Given the description of an element on the screen output the (x, y) to click on. 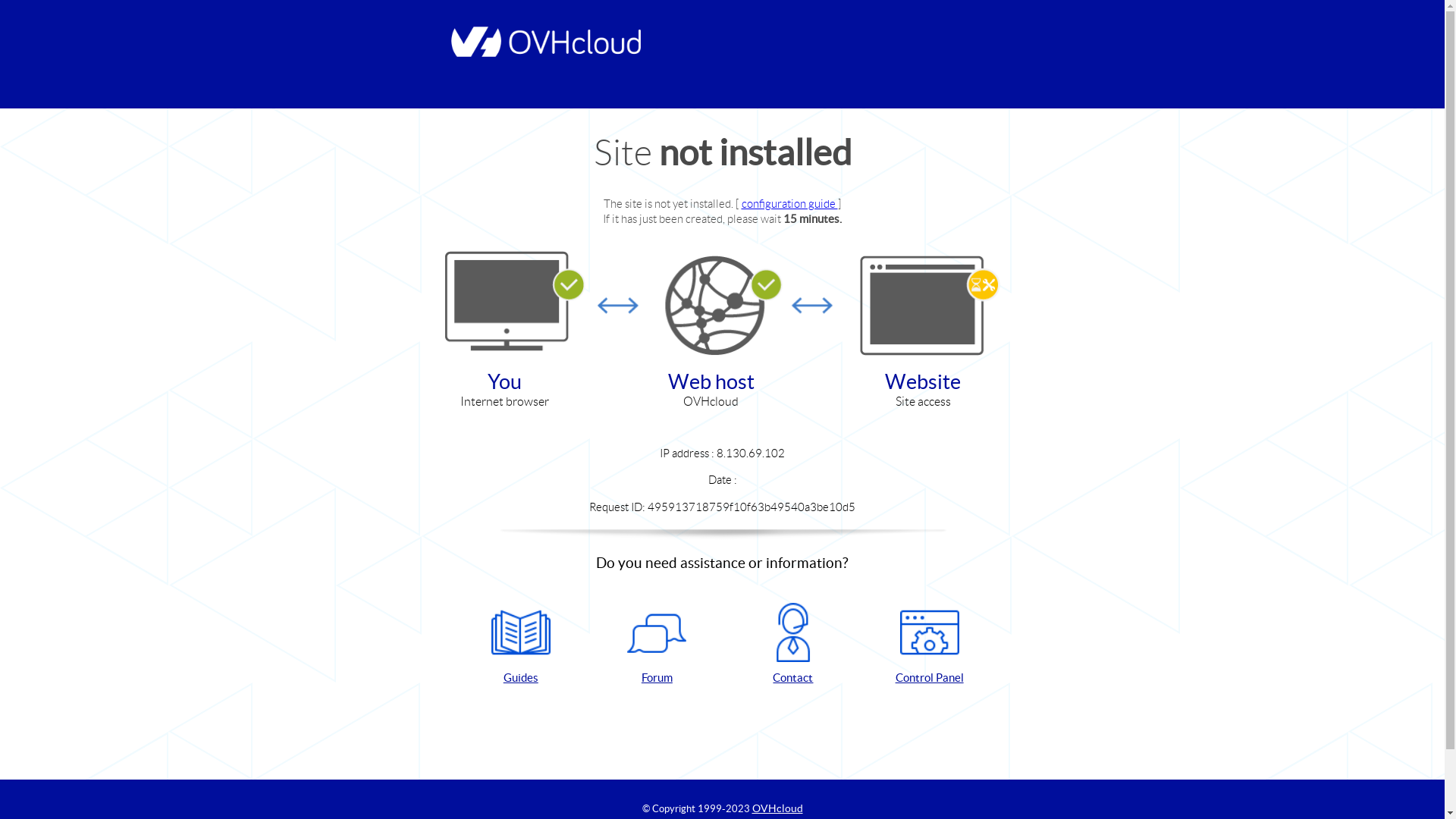
OVHcloud Element type: text (777, 808)
configuration guide Element type: text (789, 203)
Guides Element type: text (520, 644)
Control Panel Element type: text (929, 644)
Forum Element type: text (656, 644)
Contact Element type: text (792, 644)
